Given the description of an element on the screen output the (x, y) to click on. 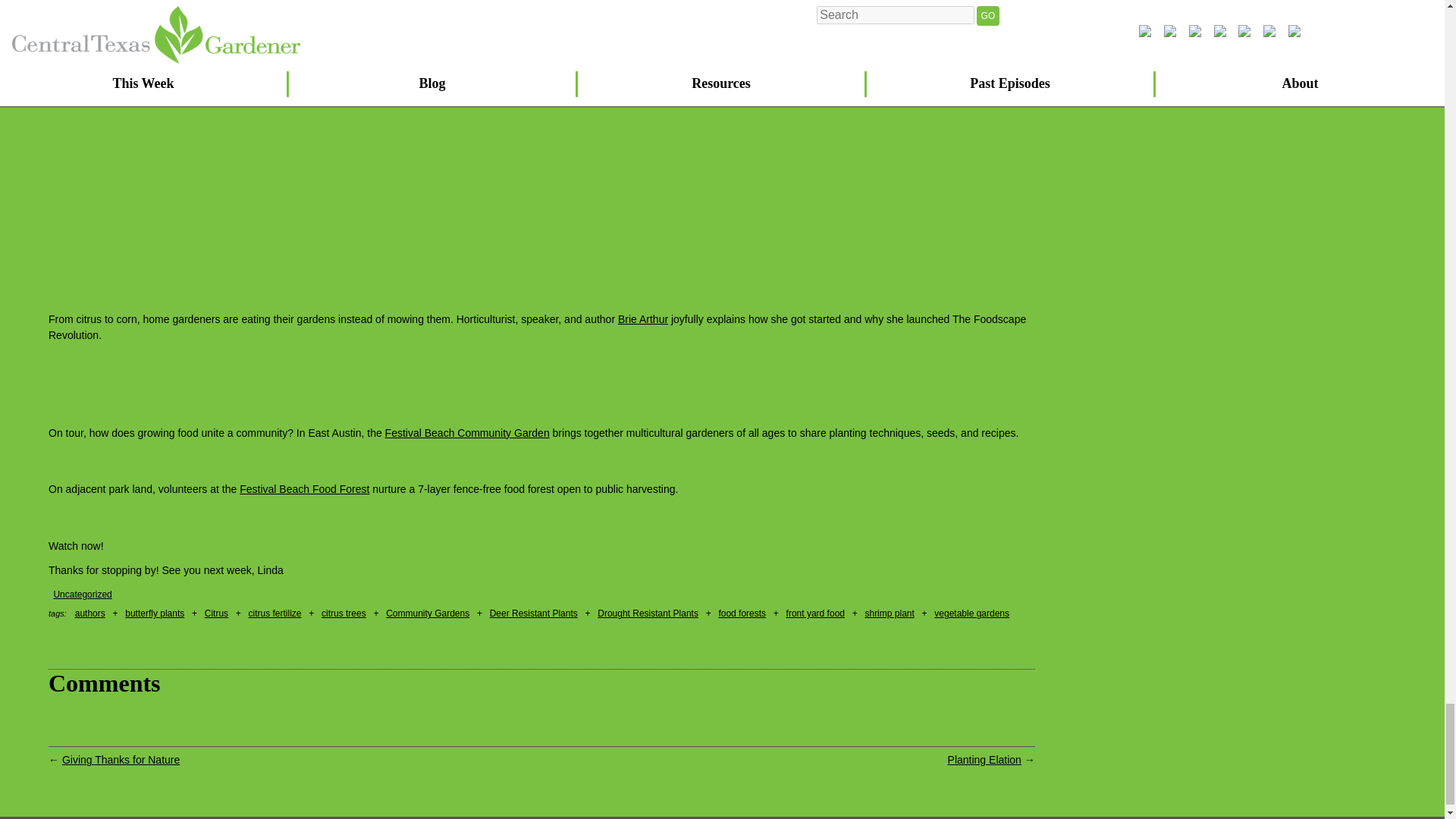
shrimp plant (889, 613)
Citrus (216, 613)
front yard food (815, 613)
authors (89, 613)
food forests (741, 613)
citrus fertilize (274, 613)
Festival Beach Community Garden (467, 432)
Festival Beach Food Forest (304, 489)
Brie Arthur (642, 318)
citrus trees (343, 613)
